Given the description of an element on the screen output the (x, y) to click on. 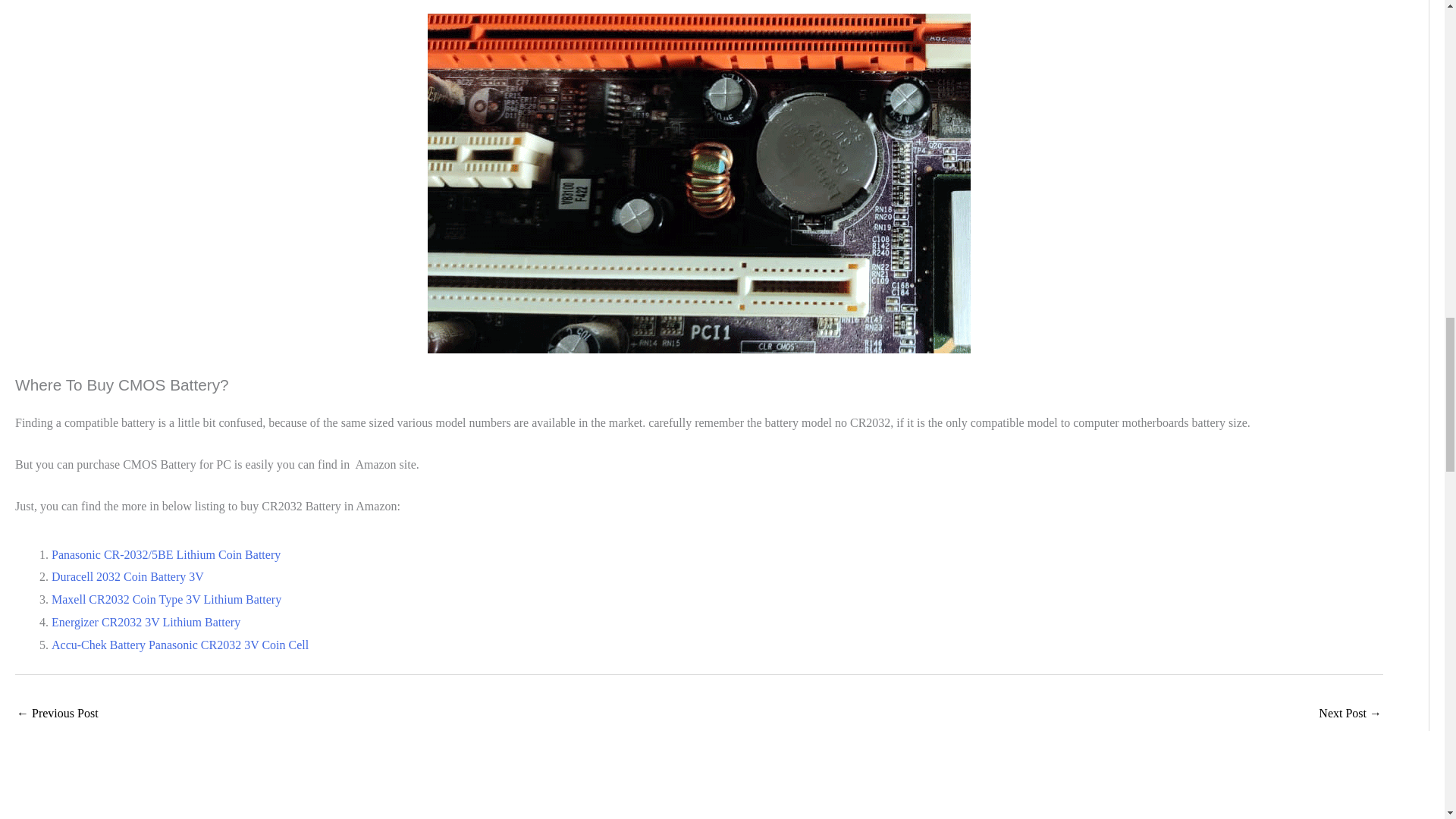
Play EAC3 Audio Format Supported Player For Android (1350, 714)
Maxell CR2032 Coin Type 3V Lithium Battery (165, 599)
Energizer CR2032 3V Lithium Battery (145, 621)
Duracell 2032 Coin Battery 3V (126, 576)
Accu-Chek Battery Panasonic CR2032 3V Coin Cell (179, 644)
